Given the description of an element on the screen output the (x, y) to click on. 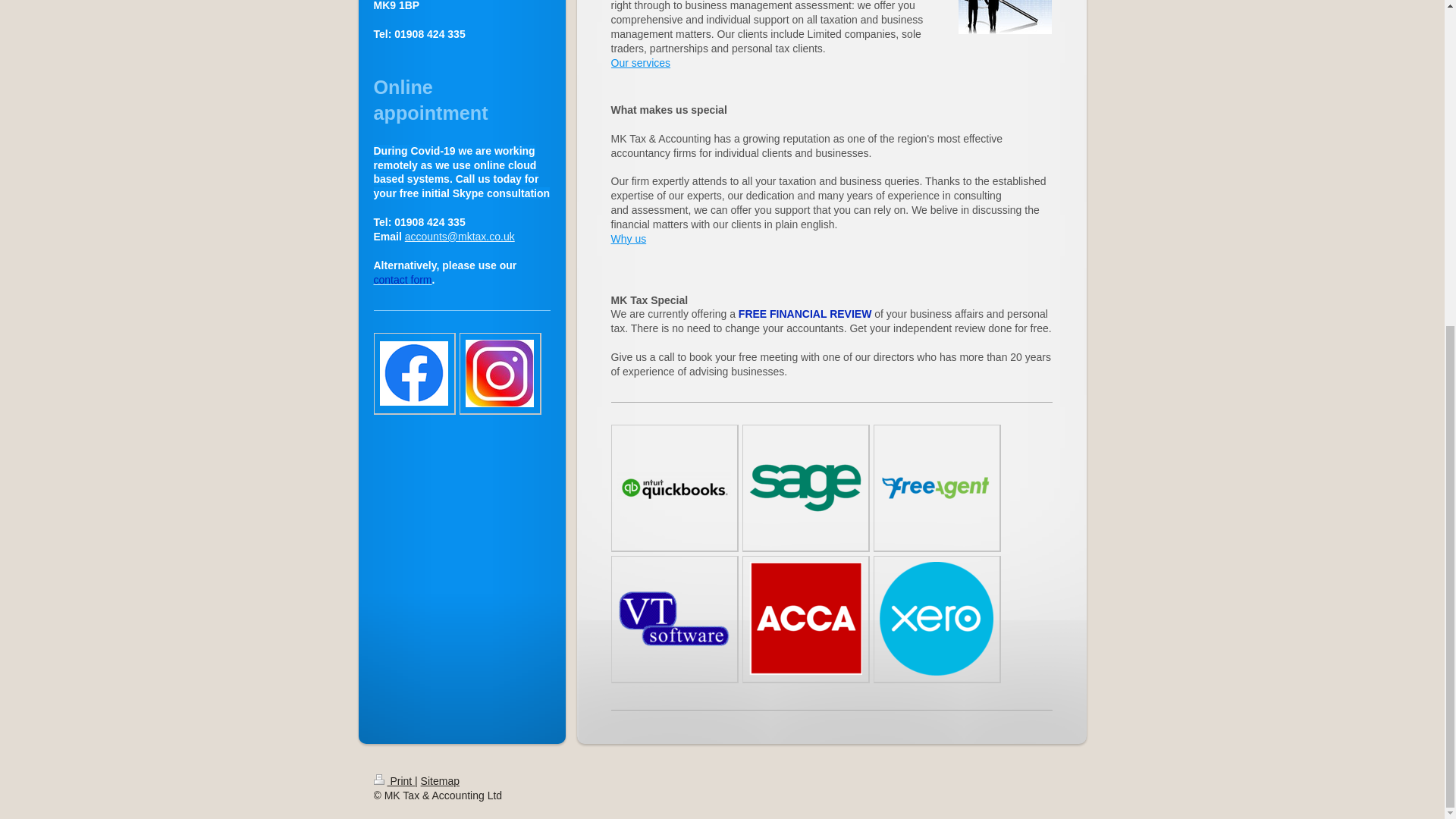
Why us (628, 238)
Our services (641, 62)
